Given the description of an element on the screen output the (x, y) to click on. 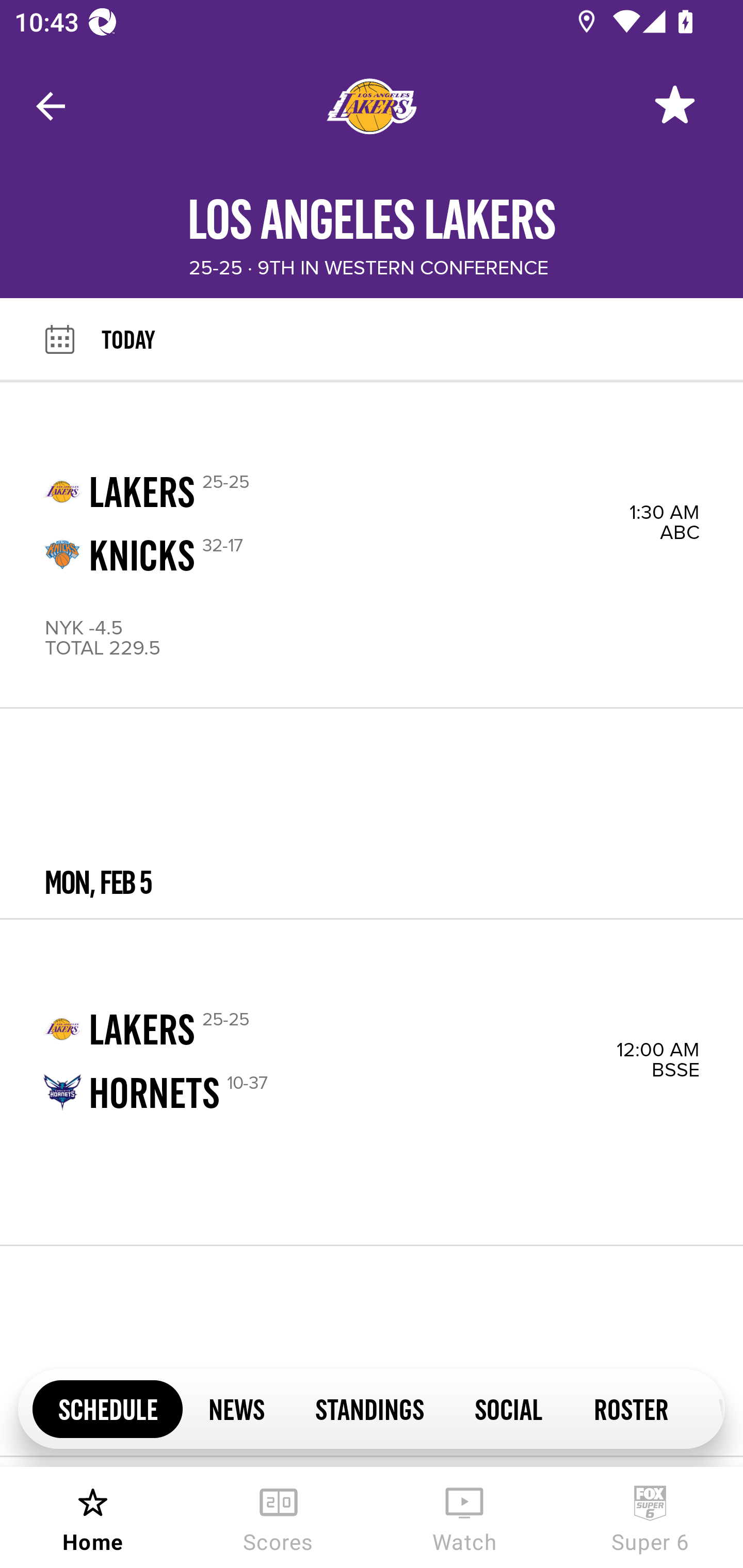
Navigate up (50, 106)
25-25 · 9TH IN WESTERN CONFERENCE (368, 267)
TODAY (422, 339)
MON, FEB 5 (371, 813)
LAKERS 25-25 12:00 AM HORNETS 10-37 BSSE (371, 1082)
NEWS (235, 1408)
STANDINGS (369, 1408)
SOCIAL (508, 1408)
ROSTER (630, 1408)
Scores (278, 1517)
Watch (464, 1517)
Super 6 (650, 1517)
